Given the description of an element on the screen output the (x, y) to click on. 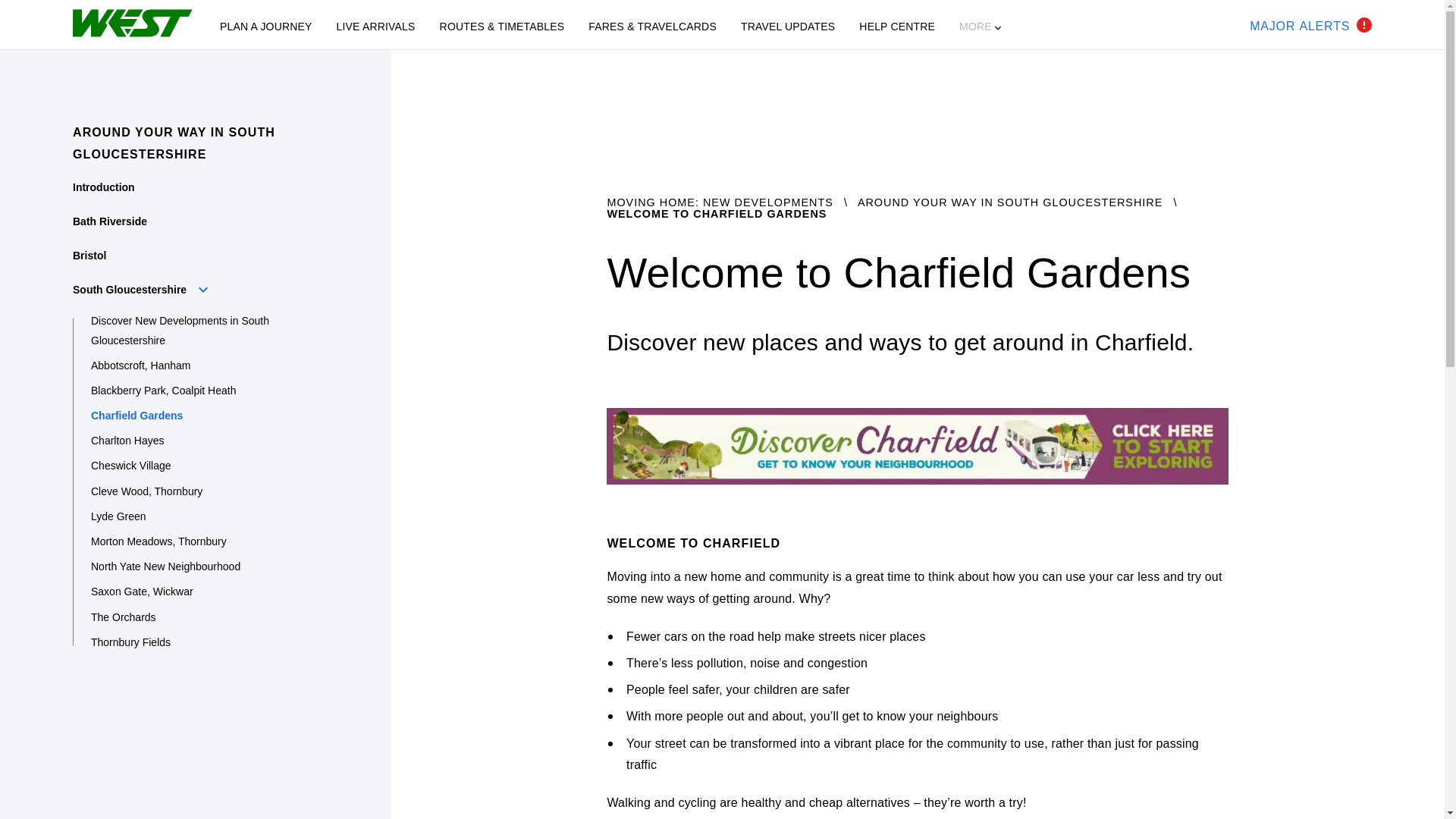
HELP CENTRE (896, 26)
MORE (981, 26)
TRAVEL UPDATES (787, 26)
PLAN A JOURNEY (266, 26)
Introduction (103, 186)
LIVE ARRIVALS (1310, 24)
